Given the description of an element on the screen output the (x, y) to click on. 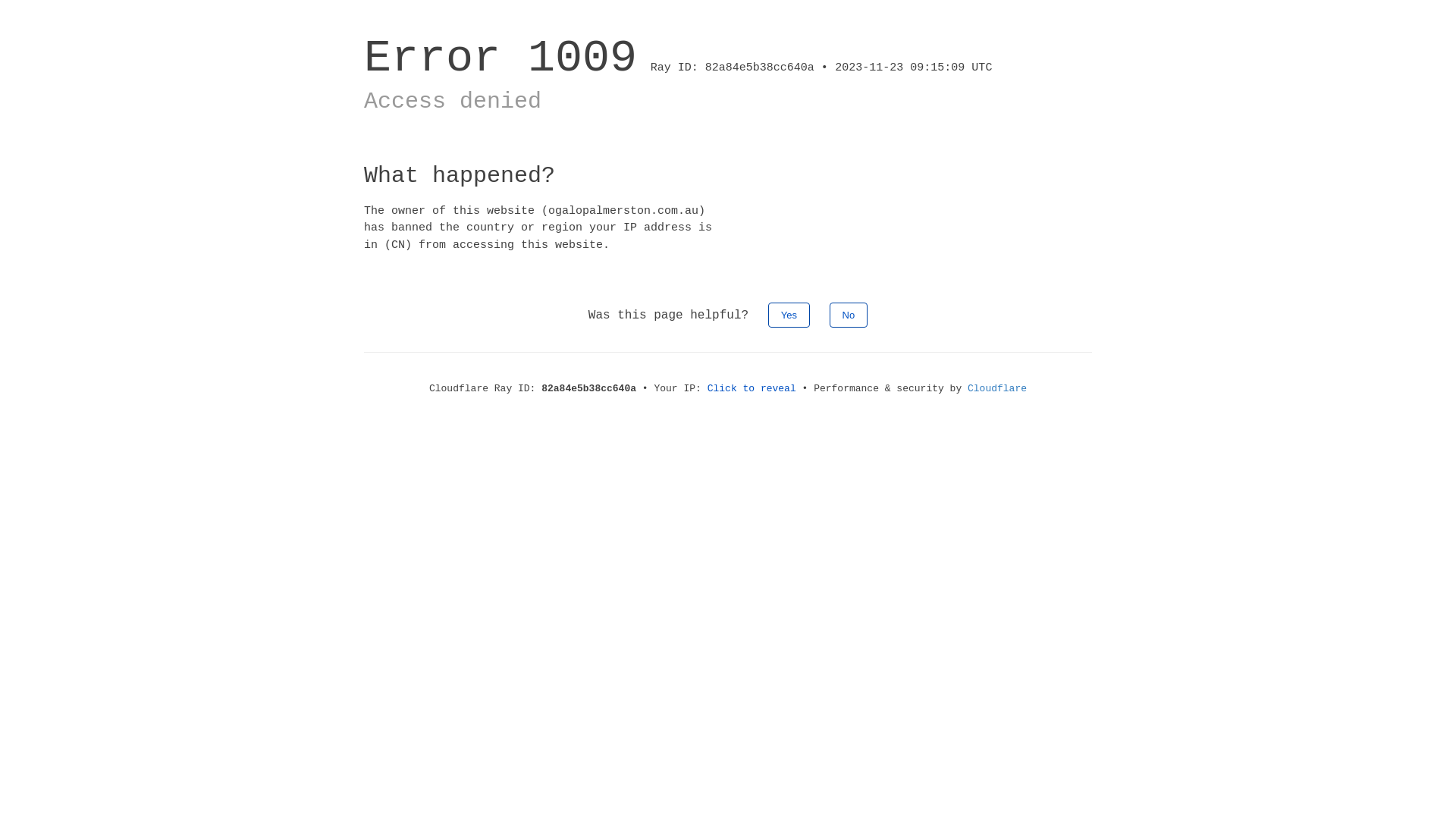
Yes Element type: text (788, 314)
No Element type: text (848, 314)
Click to reveal Element type: text (751, 388)
Cloudflare Element type: text (996, 388)
